Given the description of an element on the screen output the (x, y) to click on. 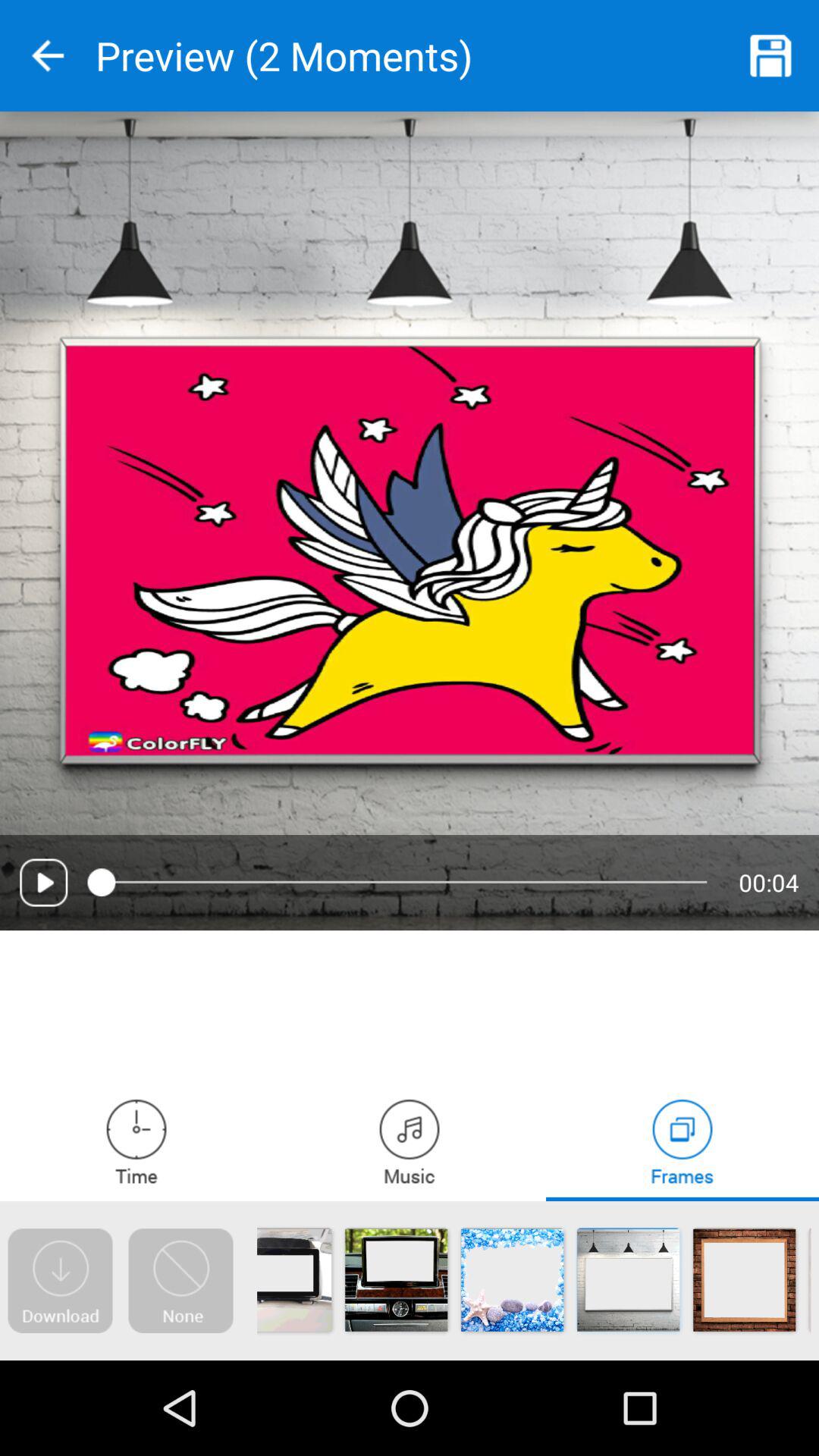
gives a blank canvas to work on (180, 1280)
